Given the description of an element on the screen output the (x, y) to click on. 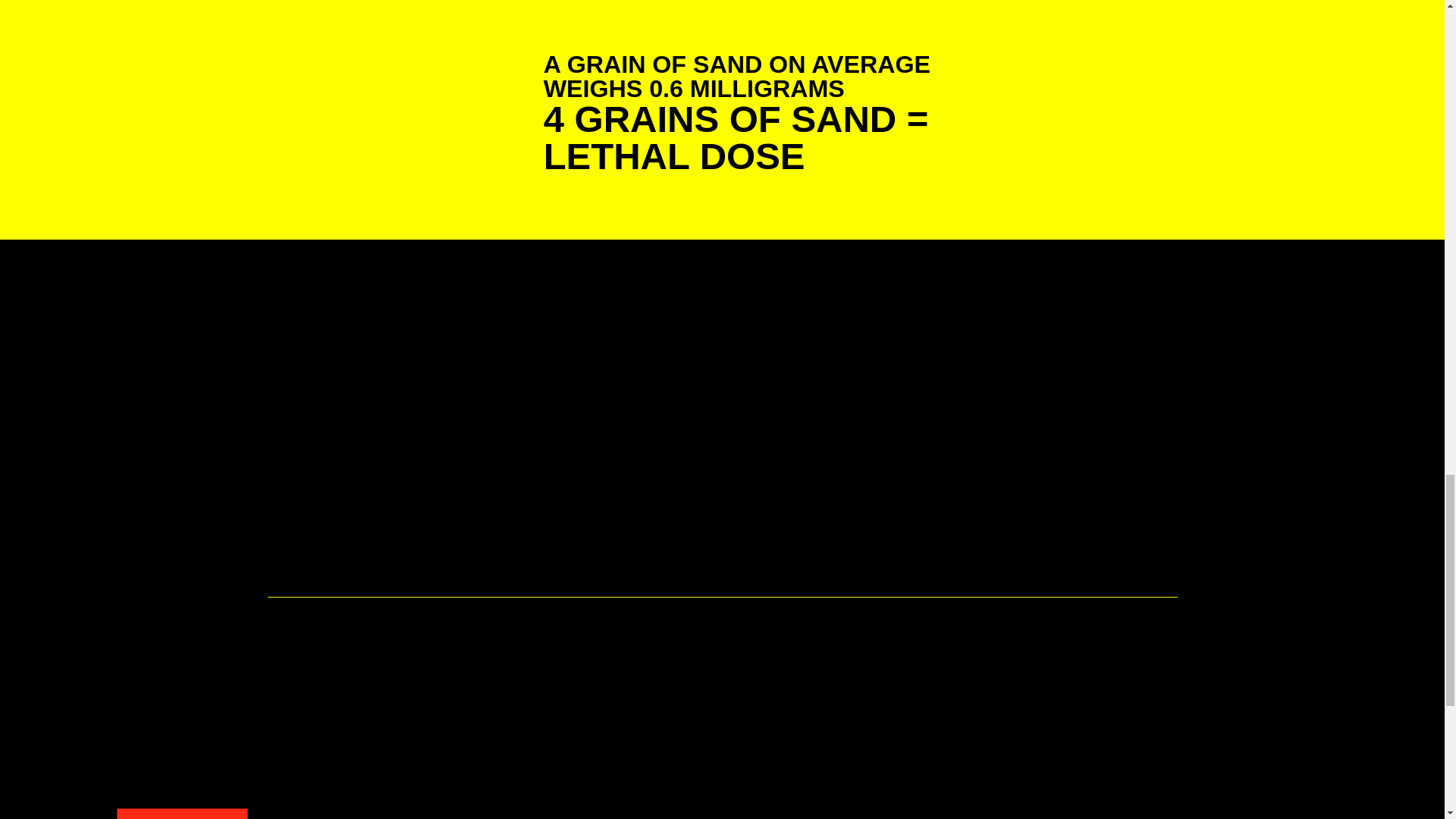
Submit (181, 813)
Submit (181, 813)
